Given the description of an element on the screen output the (x, y) to click on. 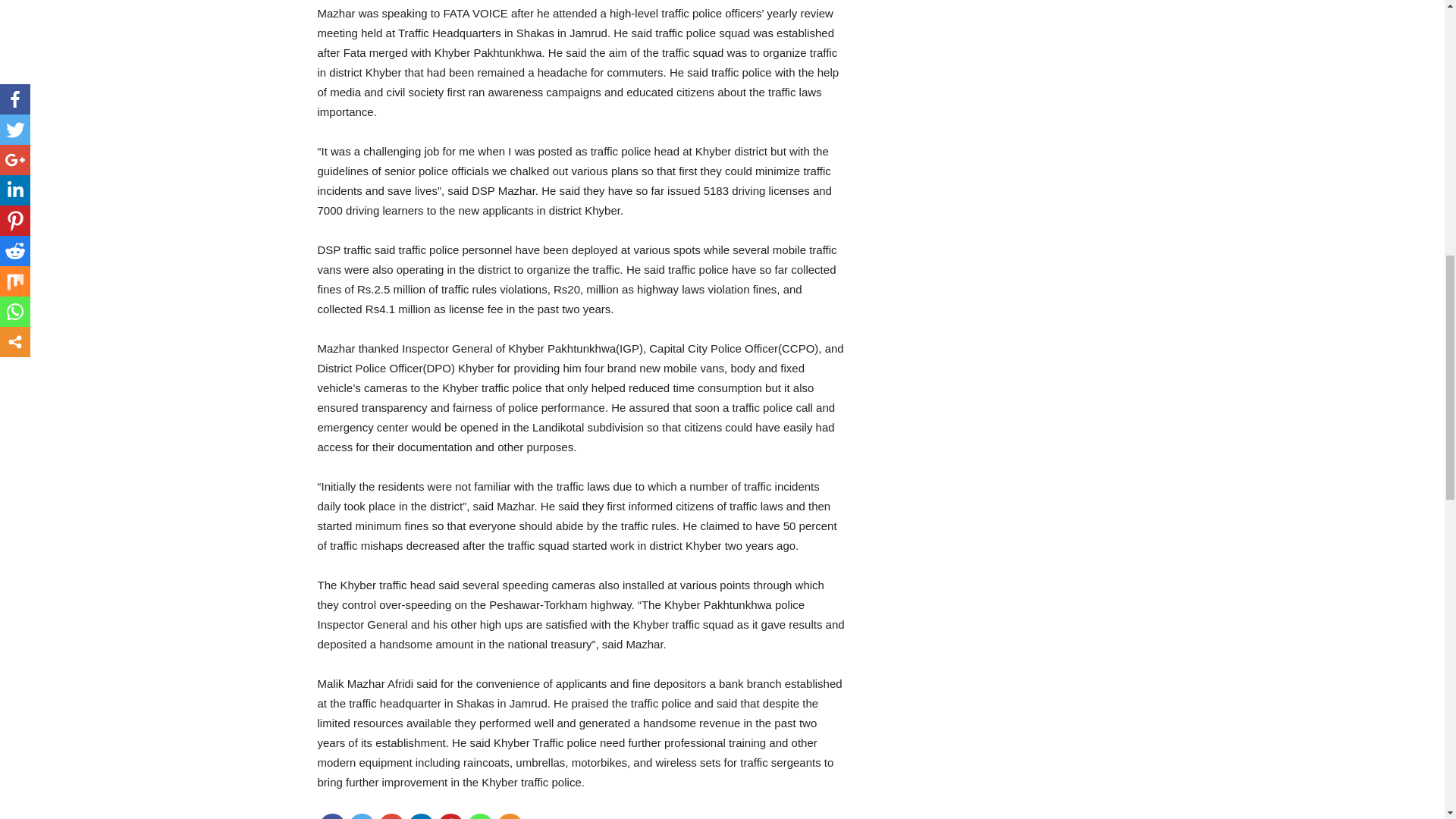
Google plus (390, 816)
Facebook (331, 816)
More (509, 816)
Pinterest (449, 816)
Twitter (362, 816)
Whatsapp (480, 816)
Linkedin (420, 816)
